Given the description of an element on the screen output the (x, y) to click on. 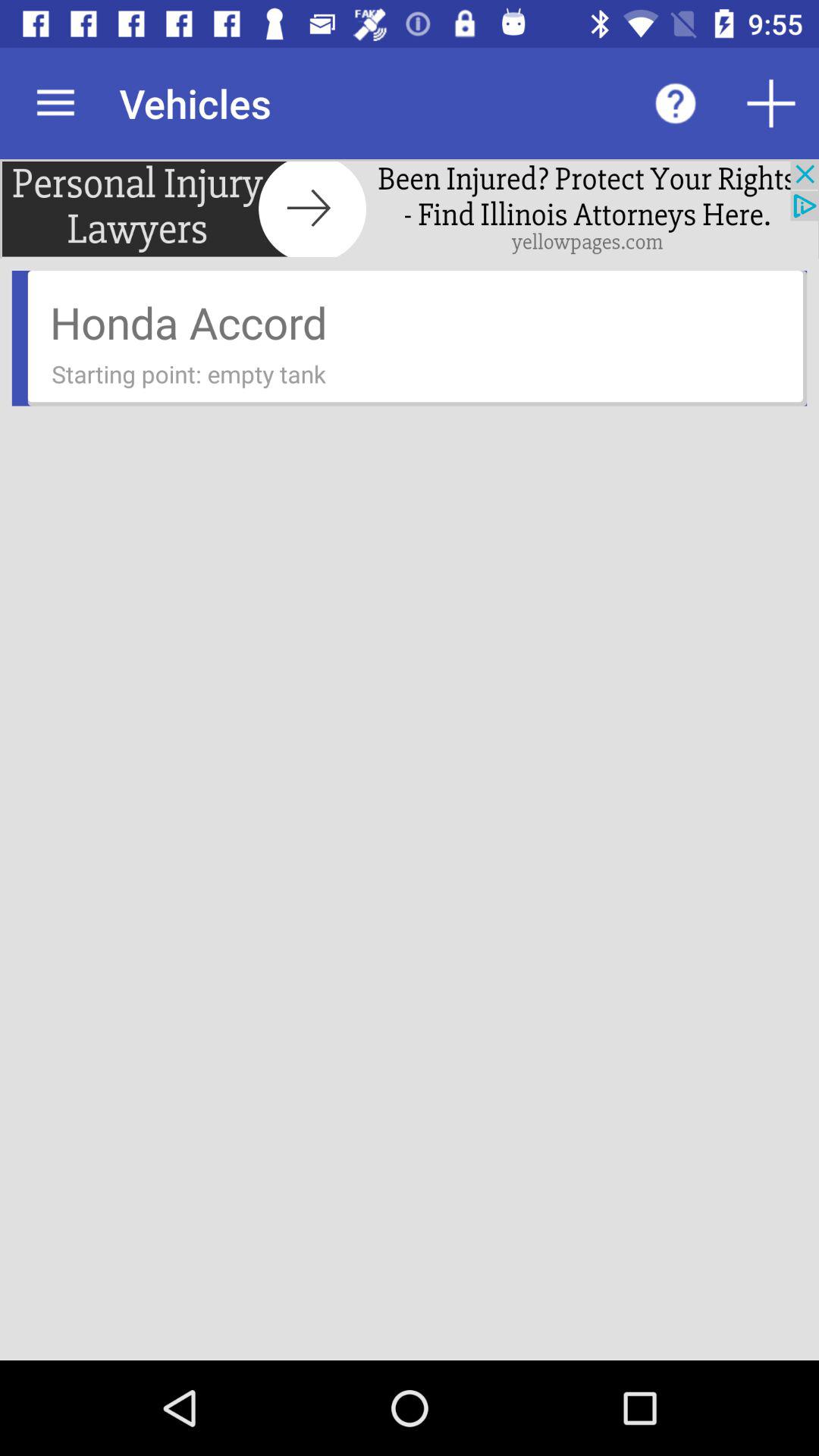
toggle autoplay option (771, 103)
